Given the description of an element on the screen output the (x, y) to click on. 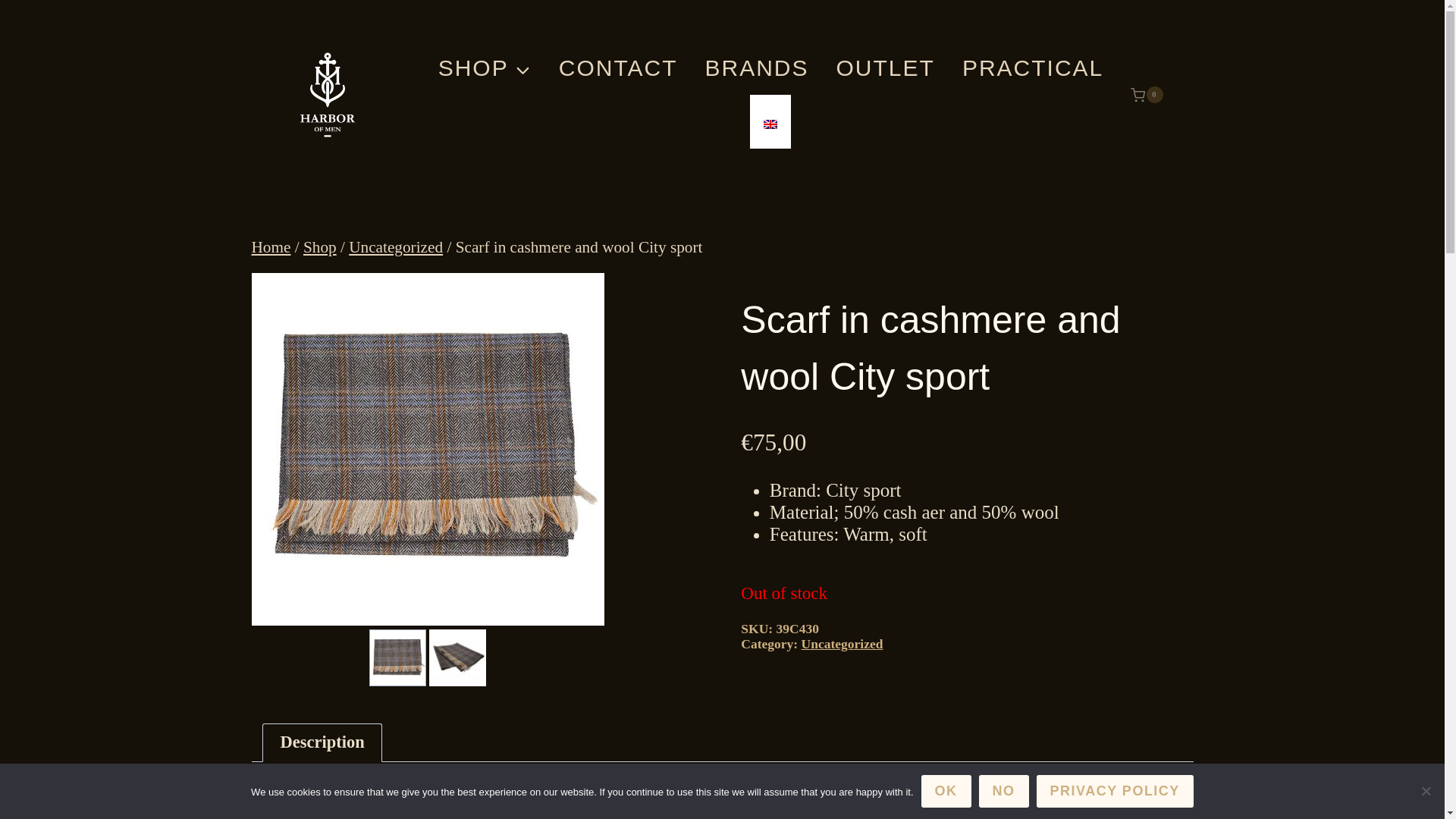
Shop (319, 247)
No (1425, 790)
CONTACT (617, 68)
Uncategorized (842, 643)
SHOP (484, 68)
OUTLET (885, 68)
PRACTICAL (1032, 68)
scarf in cashmier and wool city sport (427, 448)
Home (271, 247)
BRANDS (756, 68)
